Given the description of an element on the screen output the (x, y) to click on. 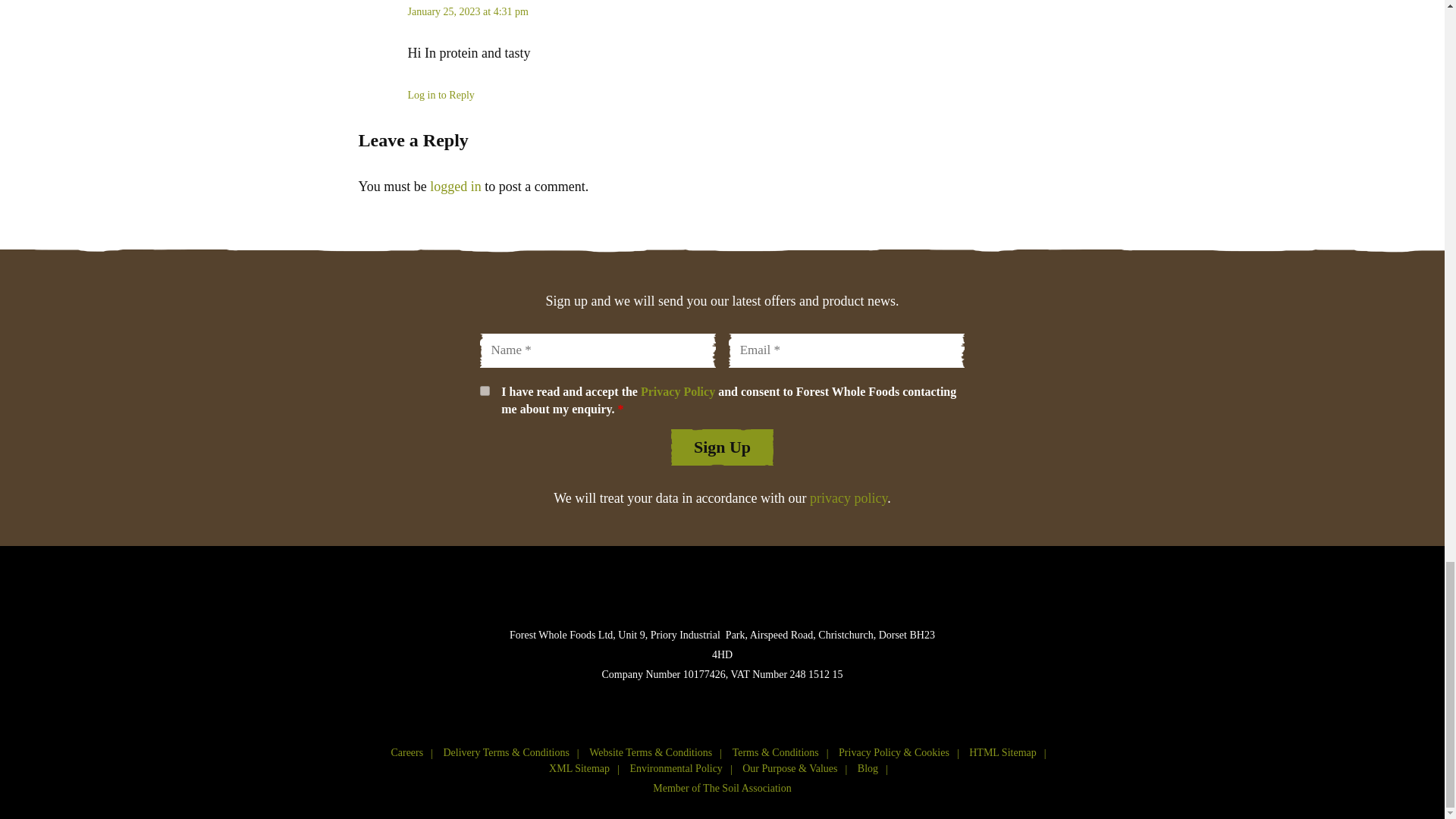
1 (484, 390)
Sign Up (722, 447)
